Given the description of an element on the screen output the (x, y) to click on. 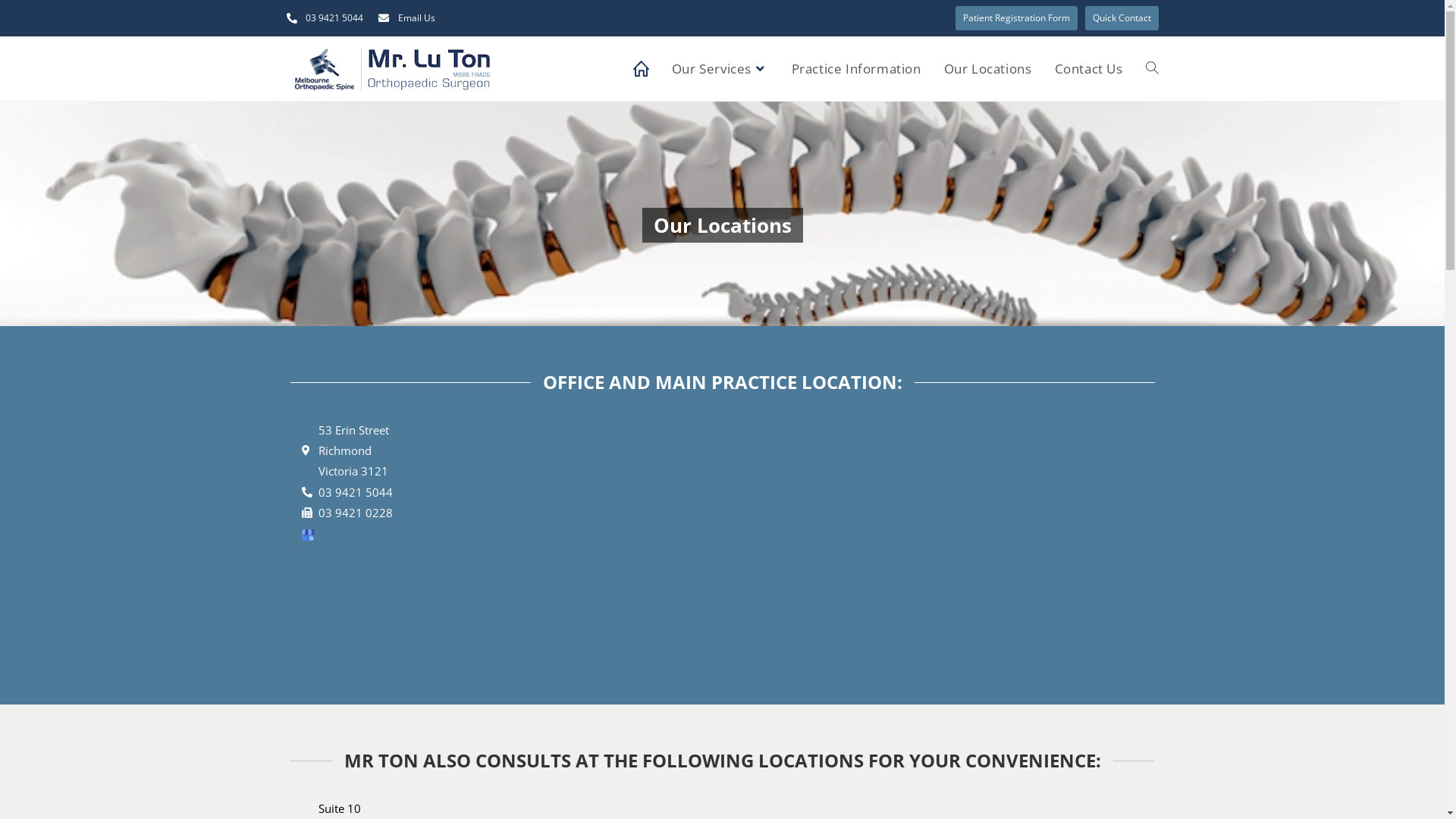
Our Services Element type: text (720, 68)
03 9421 5044 Element type: text (325, 17)
Email Us Element type: text (406, 17)
Melbourne Spine, 53 Erin Street Richmond Victoria 3121 Element type: hover (829, 533)
53 Erin Street
Richmond
Victoria 3121 Element type: text (398, 450)
Quick Contact Element type: text (1120, 18)
Practice Information Element type: text (856, 68)
03 9421 5044 Element type: text (398, 492)
Contact Us Element type: text (1088, 68)
Patient Registration Form Element type: text (1016, 18)
Our Locations Element type: text (987, 68)
